Given the description of an element on the screen output the (x, y) to click on. 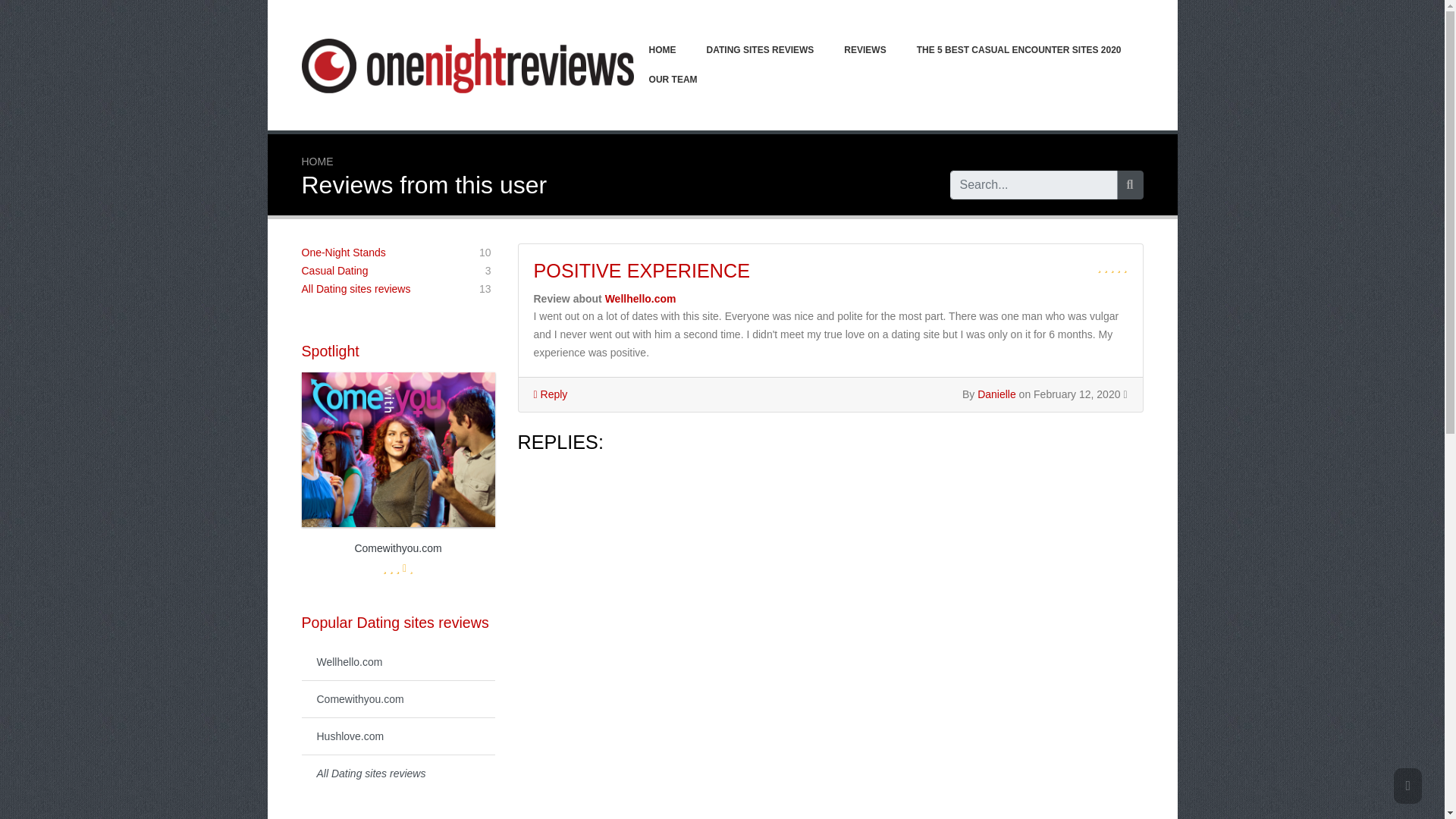
Our Team (673, 80)
One-Night Stands (343, 252)
Comewithyou.com (343, 252)
POSITIVE EXPERIENCE (398, 501)
All Dating sites reviews (642, 270)
REVIEWS (398, 772)
Wellhello.com (864, 50)
Complete List (398, 661)
